Given the description of an element on the screen output the (x, y) to click on. 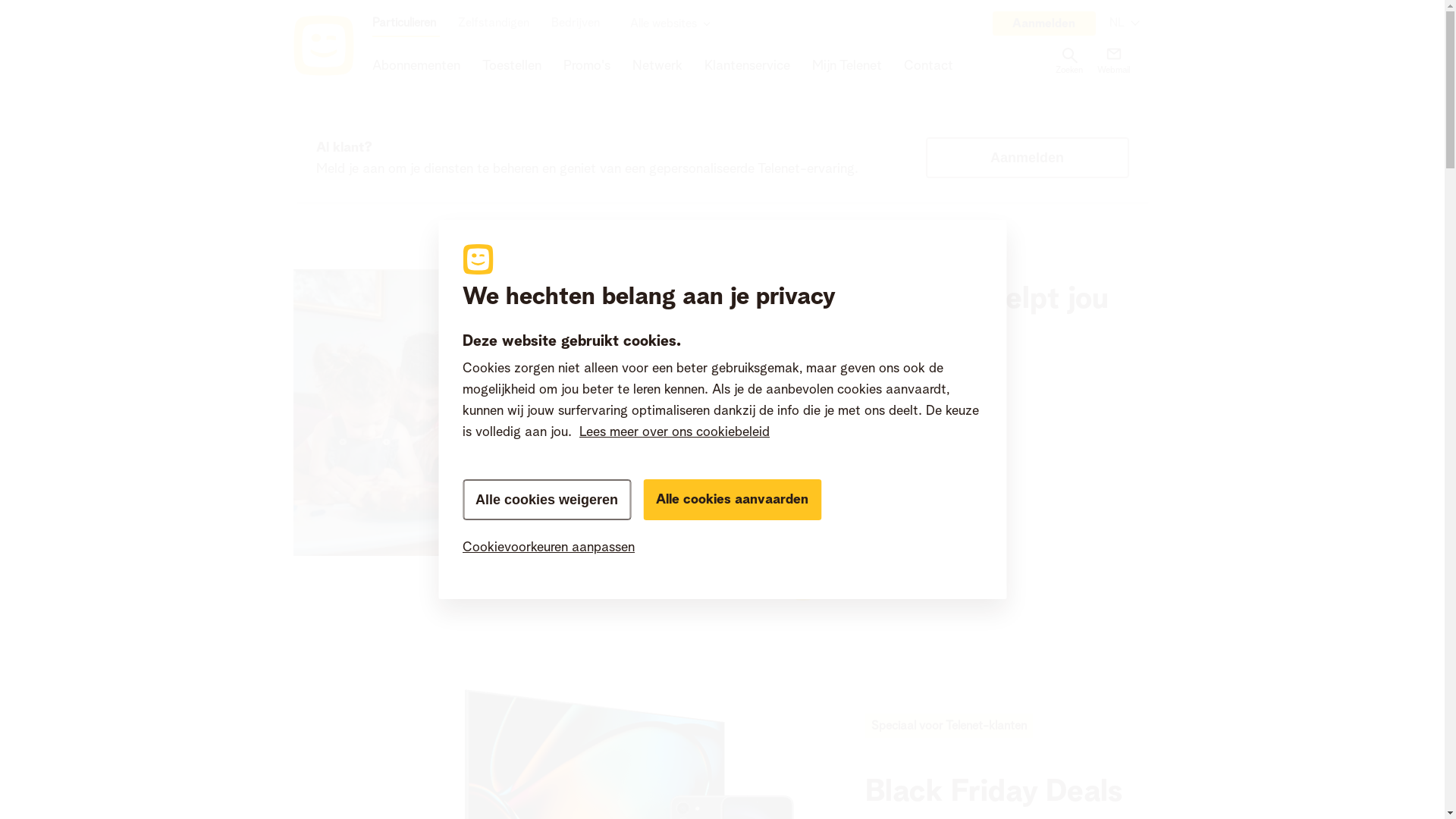
Mobiel abonnement Element type: text (972, 557)
Contact Element type: text (928, 65)
Particulieren Element type: text (405, 22)
Netwerk Element type: text (657, 65)
Internet + Mobiel + TV Element type: text (972, 383)
Lees meer over ons cookiebeleid Element type: text (674, 432)
Cookievoorkeuren aanpassen Element type: text (722, 547)
Promo's Element type: text (585, 65)
Toestellen Element type: text (972, 592)
Internet + Mobiel Element type: text (972, 418)
ONE Element type: text (972, 522)
Toestellen Element type: text (511, 65)
Zelfstandigen Element type: text (495, 21)
Bedrijven Element type: text (576, 21)
Abonnementen Element type: text (415, 65)
Klantenservice Element type: text (746, 65)
Aanmelden Element type: text (1026, 157)
Alle cookies weigeren Element type: text (546, 499)
Aanmelden Element type: text (1043, 23)
Internet + TV Element type: text (972, 453)
Mijn Telenet Element type: text (846, 65)
Alle cookies aanvaarden Element type: text (732, 499)
Internet Element type: text (972, 487)
